Given the description of an element on the screen output the (x, y) to click on. 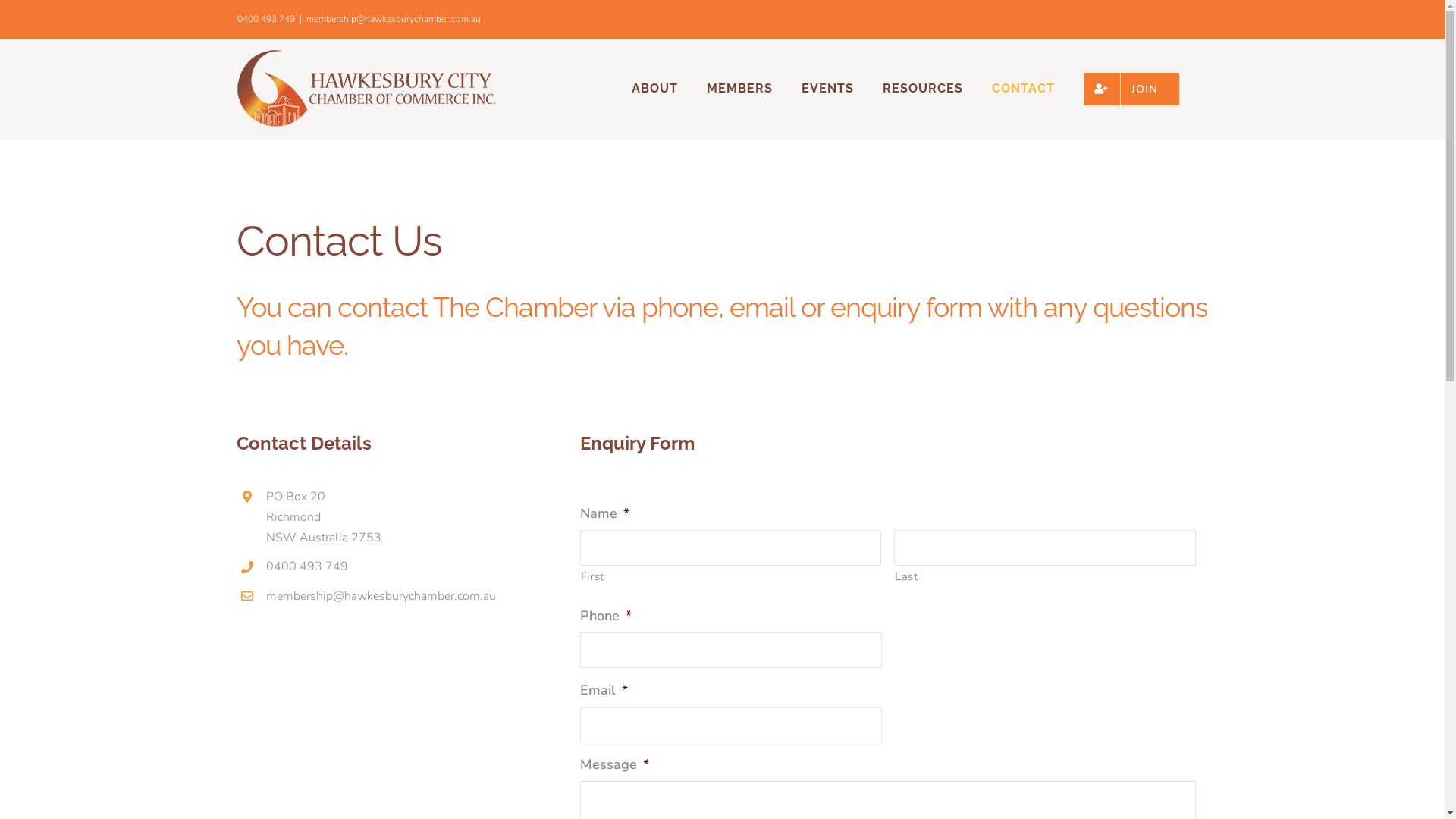
RESOURCES Element type: text (922, 88)
CONTACT Element type: text (1022, 88)
EVENTS Element type: text (826, 88)
MEMBERS Element type: text (739, 88)
membership@hawkesburychamber.com.au Element type: text (393, 18)
JOIN Element type: text (1130, 88)
ABOUT Element type: text (653, 88)
